Given the description of an element on the screen output the (x, y) to click on. 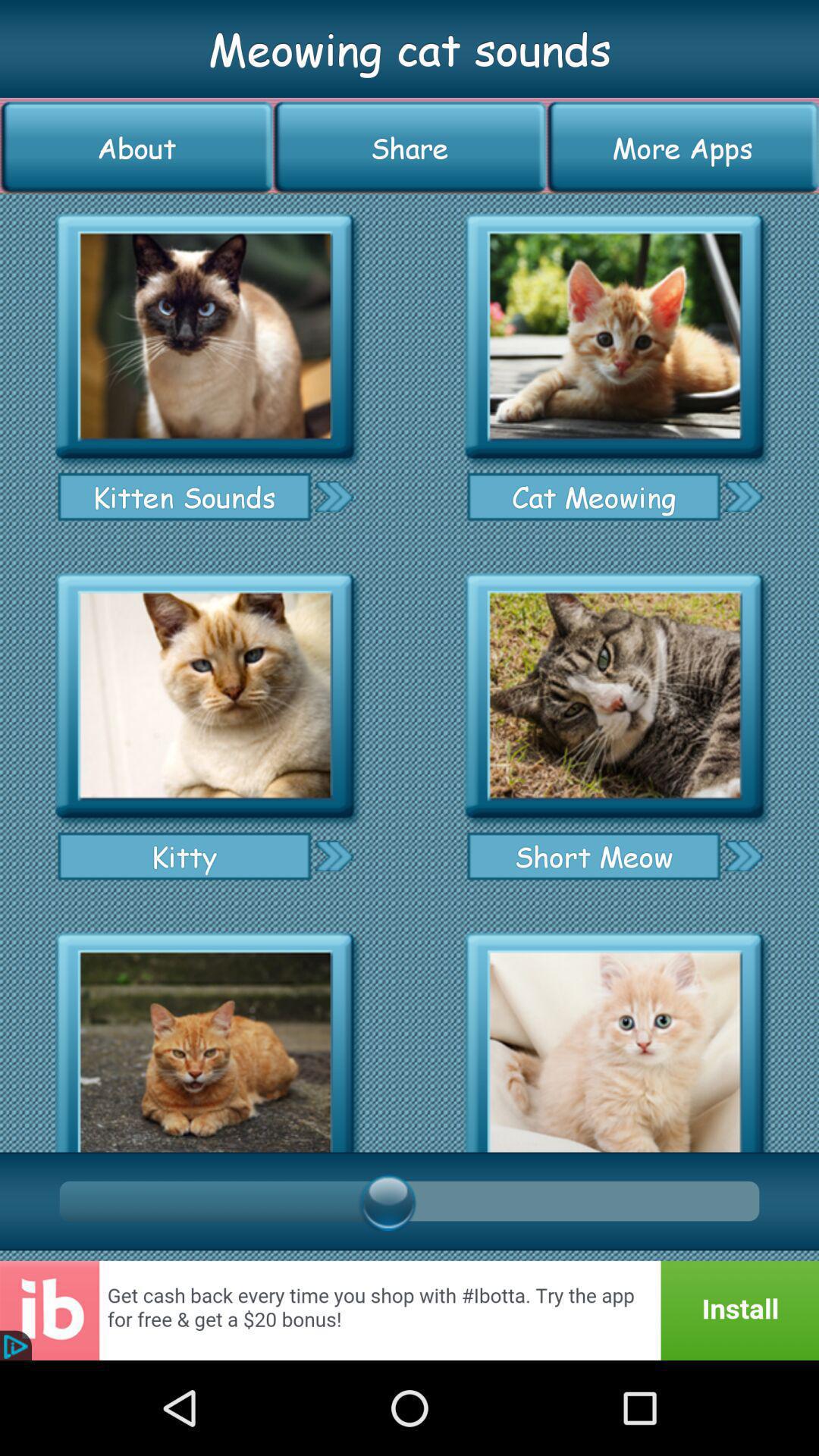
open picture (204, 696)
